Given the description of an element on the screen output the (x, y) to click on. 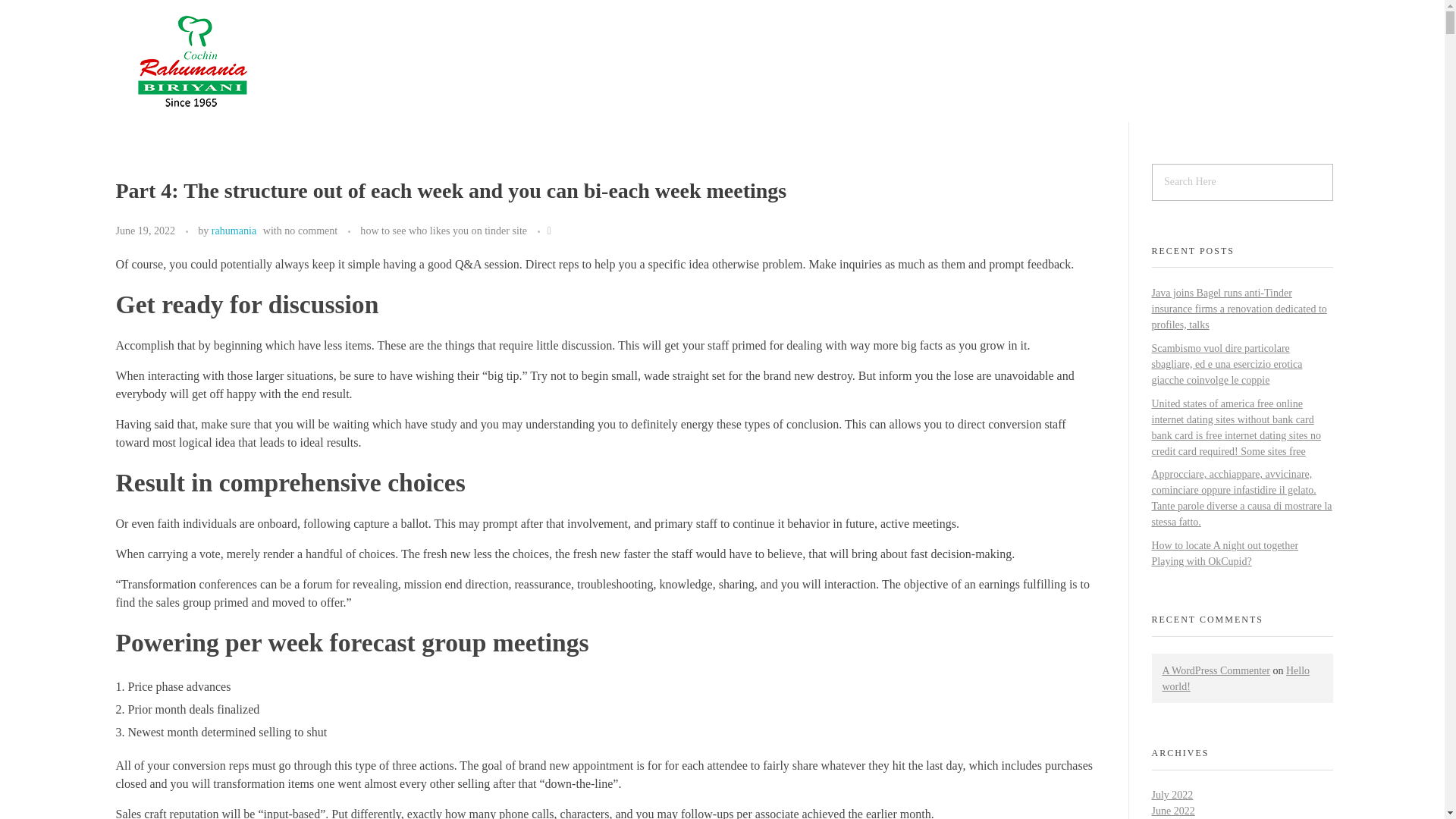
View all posts in how to see who likes you on tinder site (443, 230)
Cochin Rahumania Biriyani (233, 125)
How to locate A night out together Playing with OkCupid? (1224, 553)
Hello world! (1234, 678)
June 2022 (1172, 810)
A WordPress Commenter (1215, 670)
Cochin Rahumania Biriyani (233, 125)
